Given the description of an element on the screen output the (x, y) to click on. 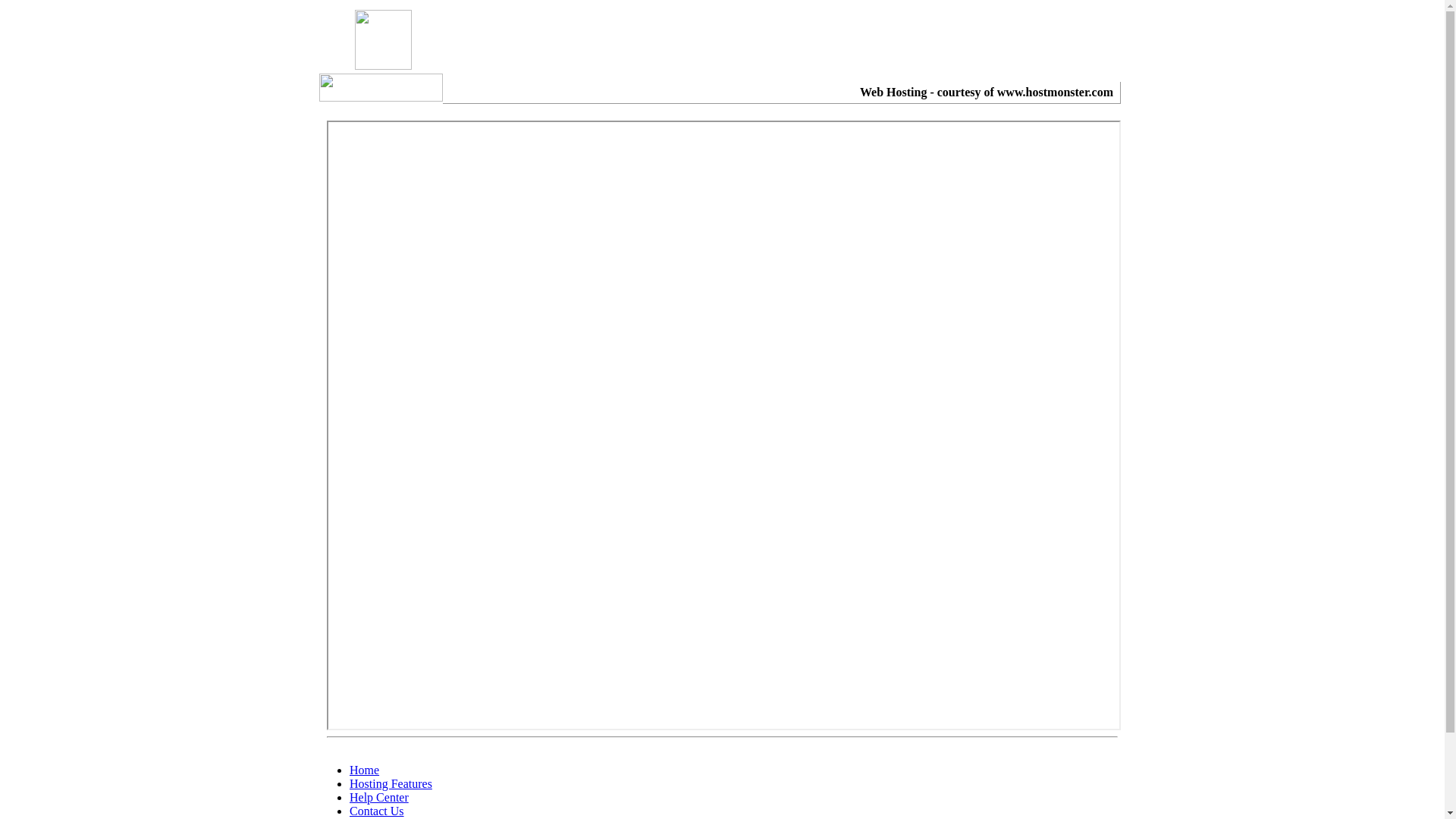
Hosting Features Element type: text (390, 783)
Contact Us Element type: text (376, 810)
Help Center Element type: text (378, 796)
Home Element type: text (364, 769)
Web Hosting - courtesy of www.hostmonster.com Element type: text (986, 91)
